Given the description of an element on the screen output the (x, y) to click on. 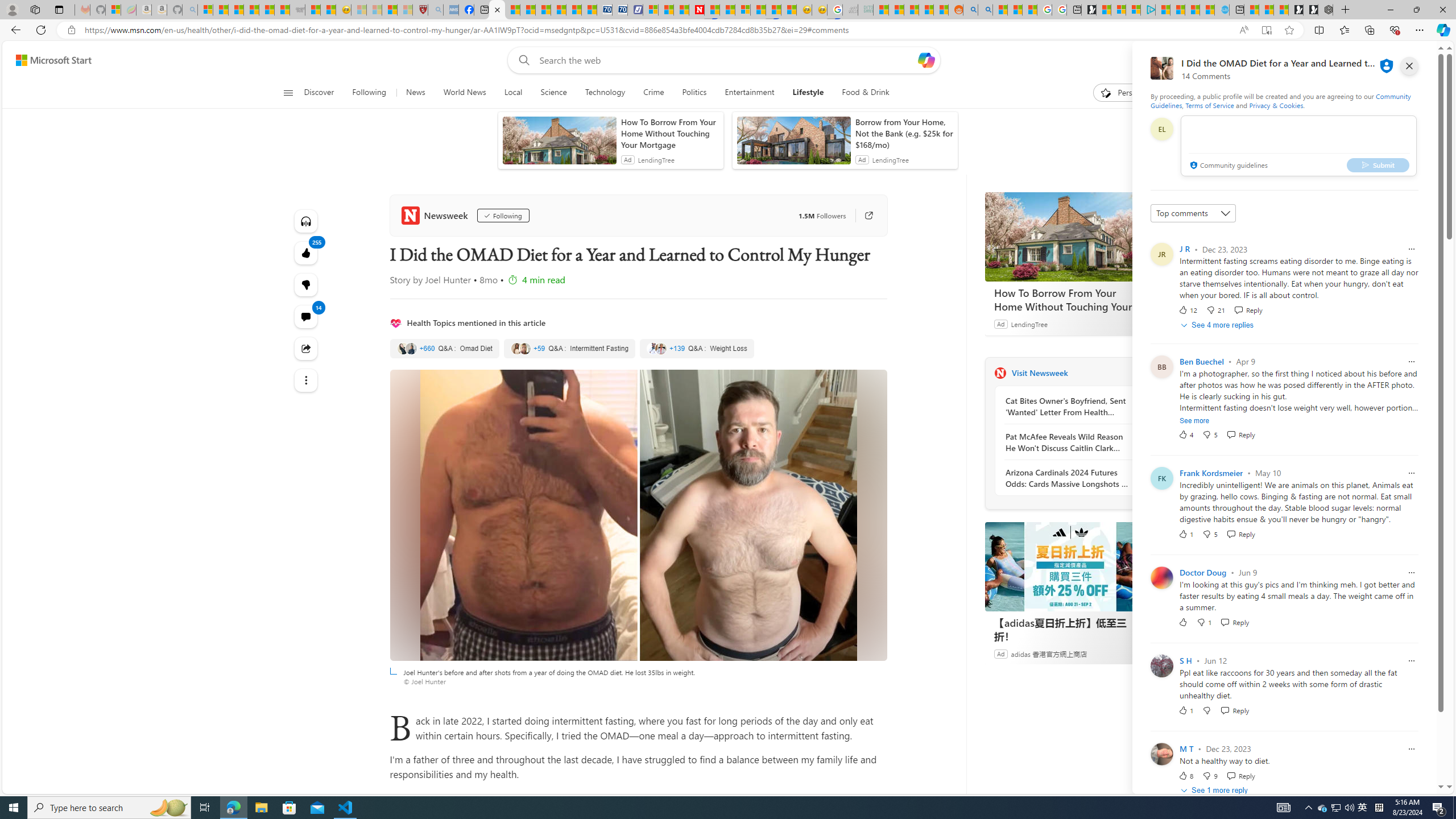
J R (1185, 248)
The Weather Channel - MSN (236, 9)
255 (305, 284)
Listen to this article (305, 220)
New Report Confirms 2023 Was Record Hot | Watch (266, 9)
Go to publisher's site (863, 215)
